Given the description of an element on the screen output the (x, y) to click on. 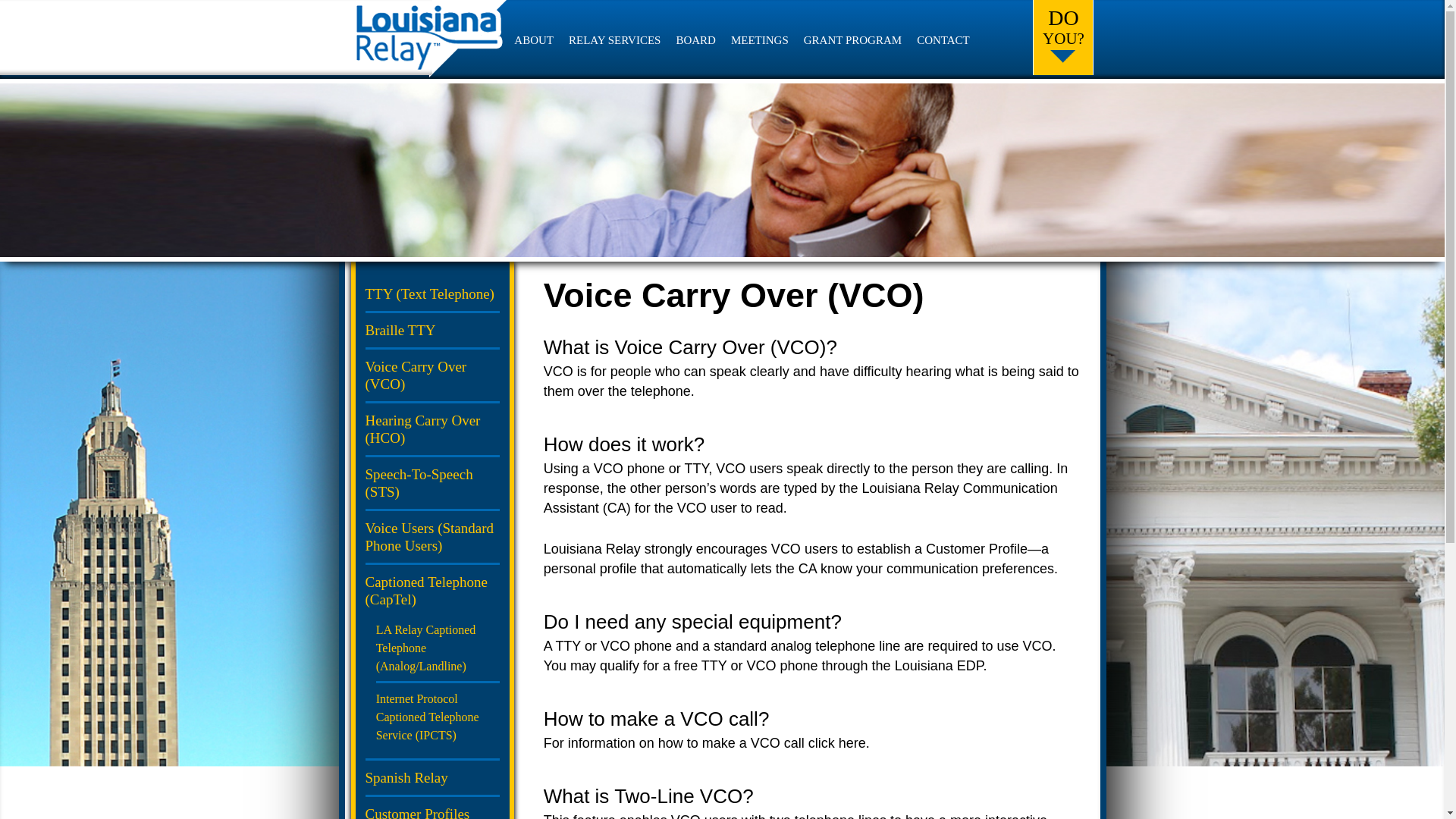
ABOUT (533, 39)
Braille TTY (400, 330)
GRANT PROGRAM (852, 39)
BOARD (695, 39)
RELAY SERVICES (615, 39)
Spanish Relay (406, 777)
Customer Profiles (417, 812)
For information on how to make a VCO call click here. (706, 743)
CONTACT (943, 39)
MEETINGS (759, 39)
